Given the description of an element on the screen output the (x, y) to click on. 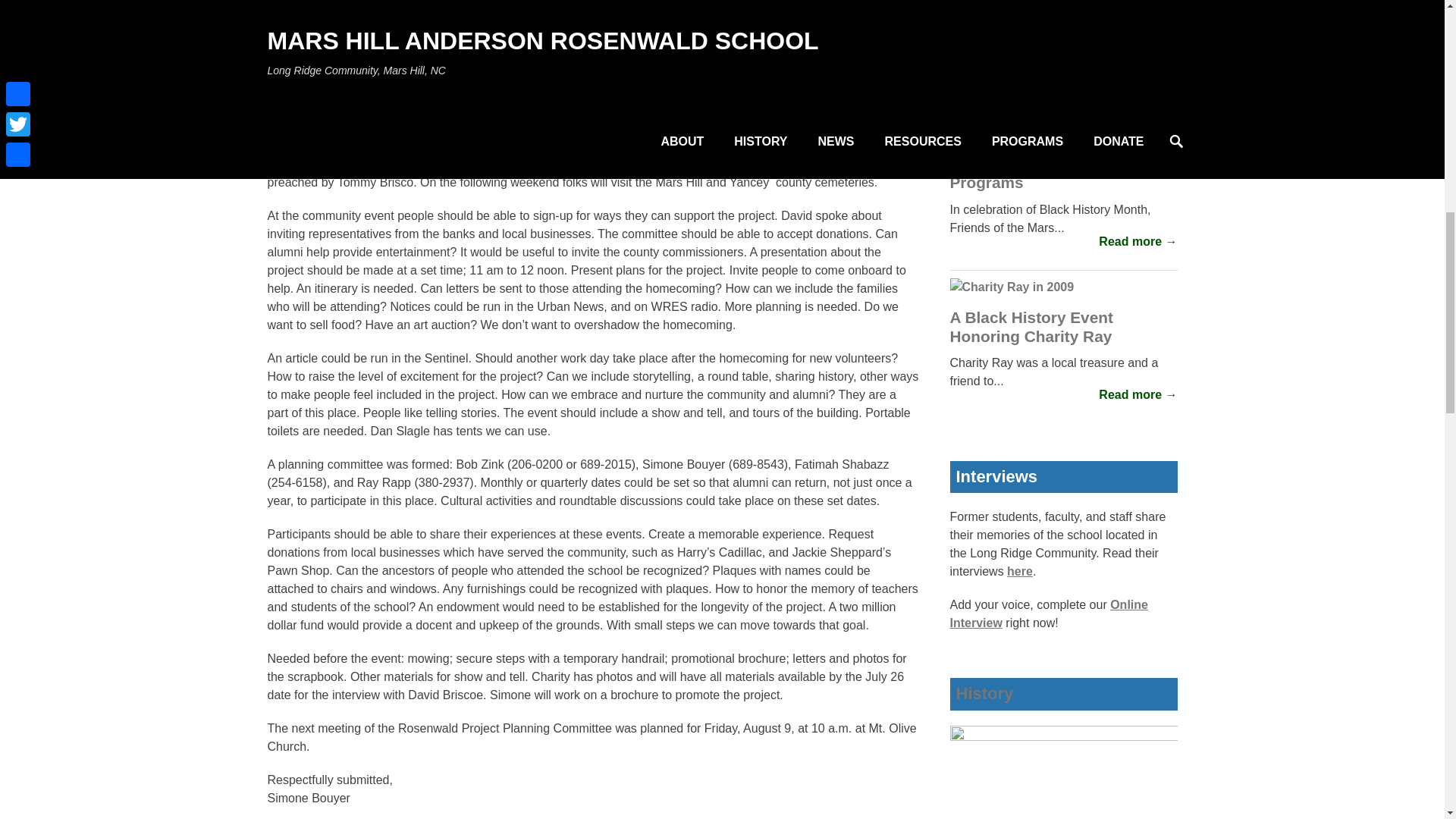
Online Interview (1048, 613)
